Given the description of an element on the screen output the (x, y) to click on. 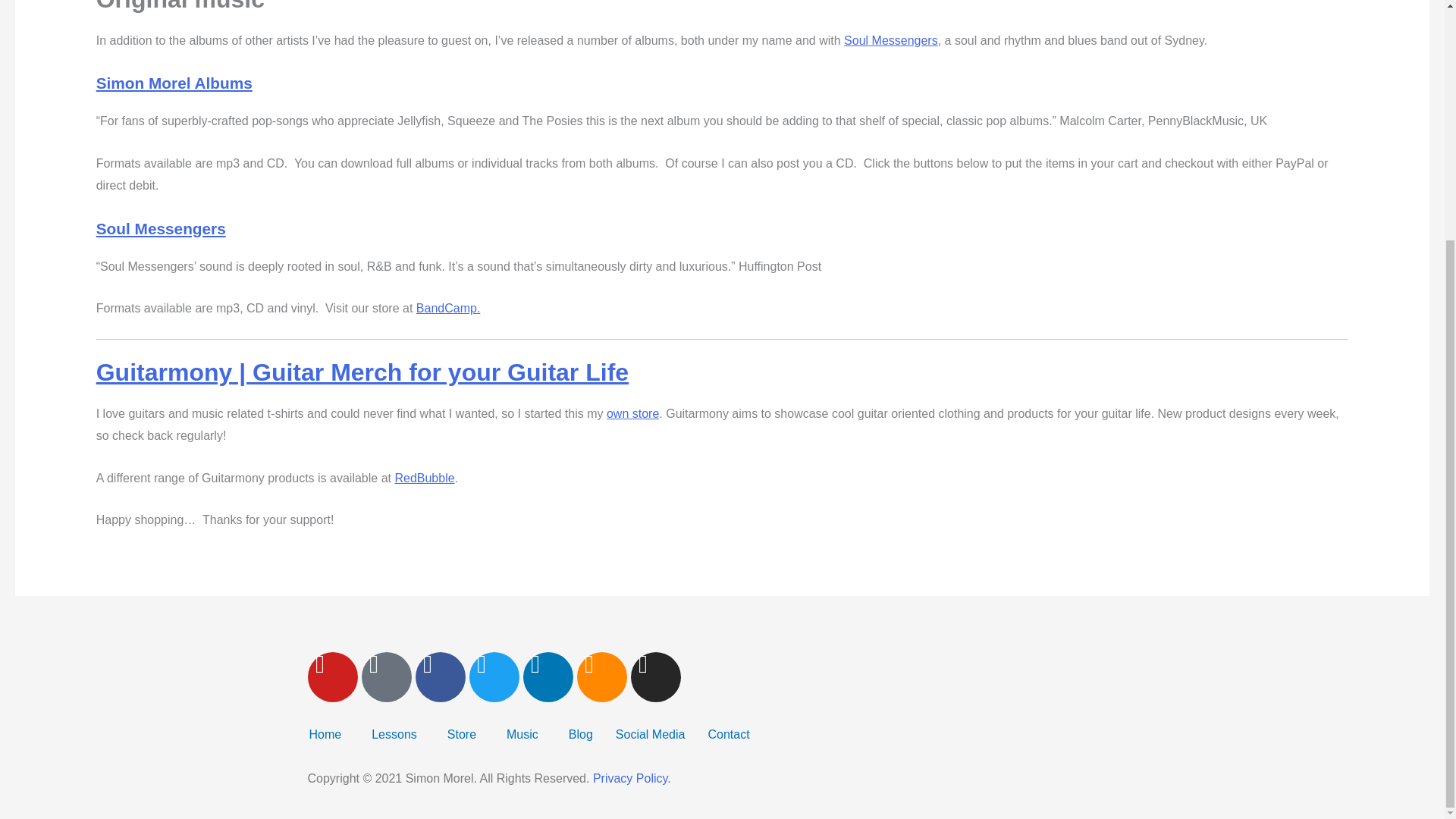
Patreon (385, 676)
Instagram (655, 676)
BandCamp. (448, 308)
Facebook (439, 676)
Twitter (493, 676)
Linkedin (547, 676)
Soul Messengers (890, 40)
RedBubble (424, 477)
Soundcloud (601, 676)
own store (633, 413)
Simon Morel Albums (173, 82)
Soul Messengers (160, 228)
Youtube (332, 676)
